Given the description of an element on the screen output the (x, y) to click on. 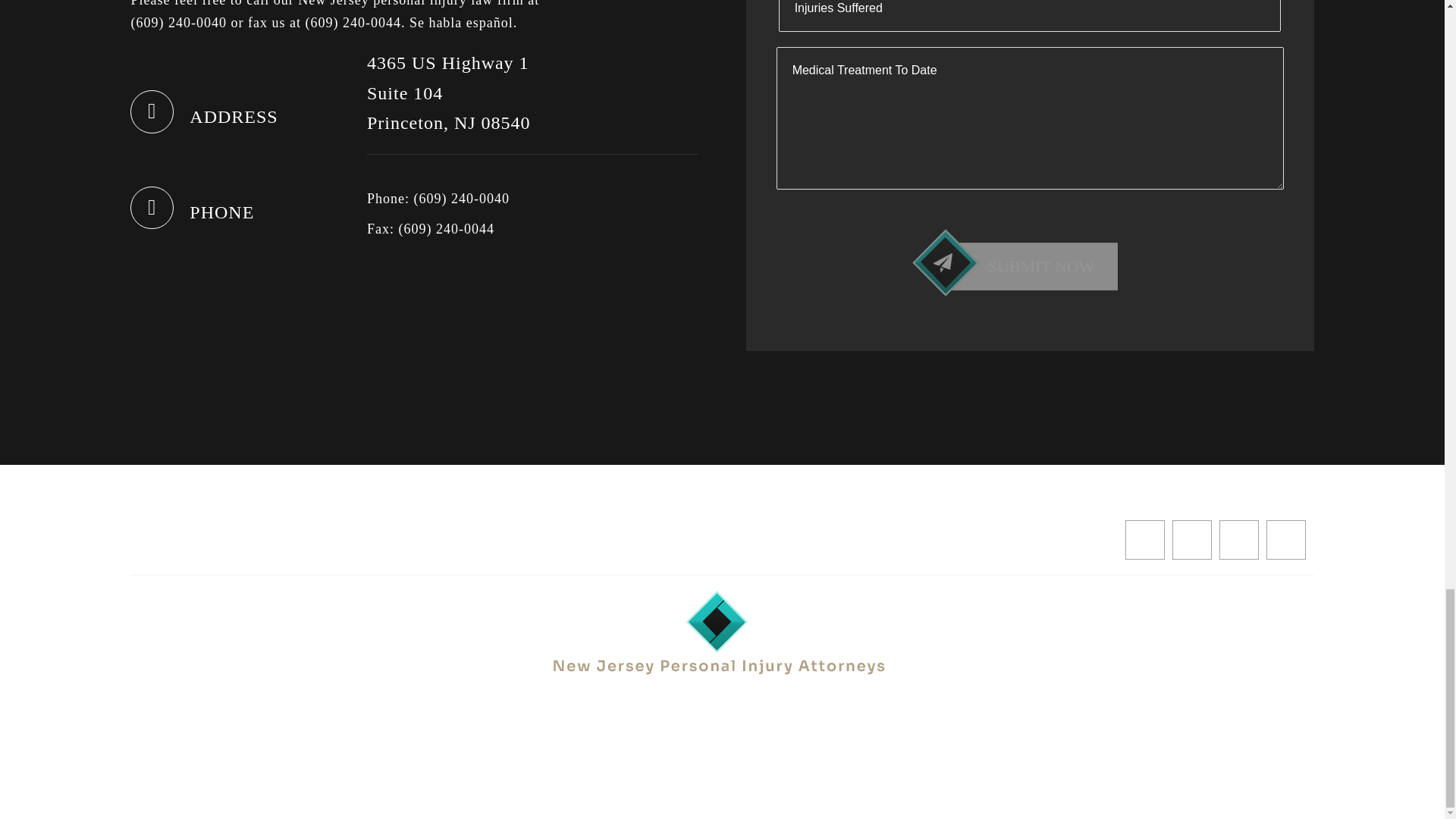
Facebook (1144, 539)
YouTube (1239, 539)
footer-logo (722, 632)
Instagram (1191, 539)
LinkedIn (1286, 539)
